Given the description of an element on the screen output the (x, y) to click on. 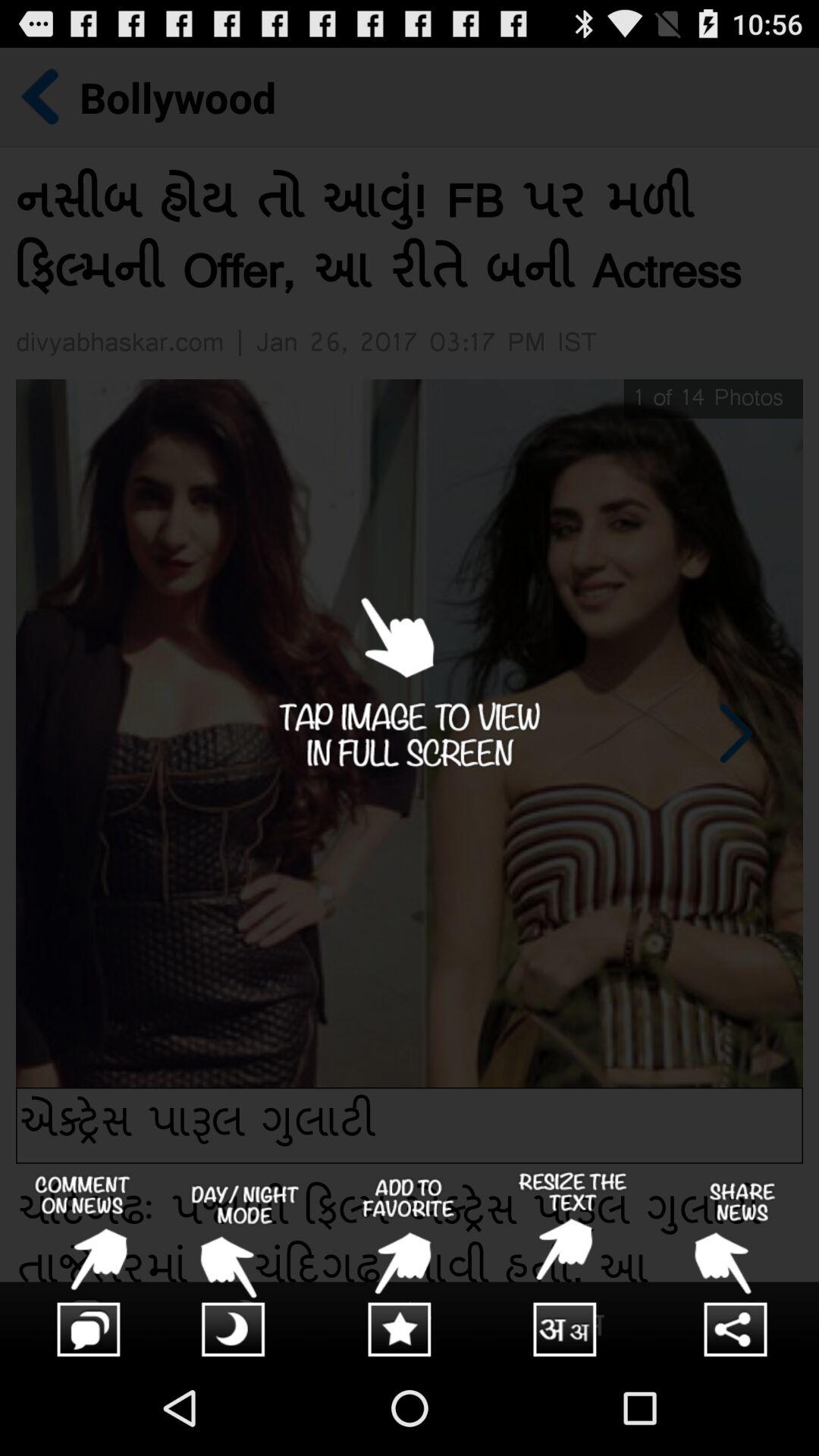
right down option (573, 1265)
